Given the description of an element on the screen output the (x, y) to click on. 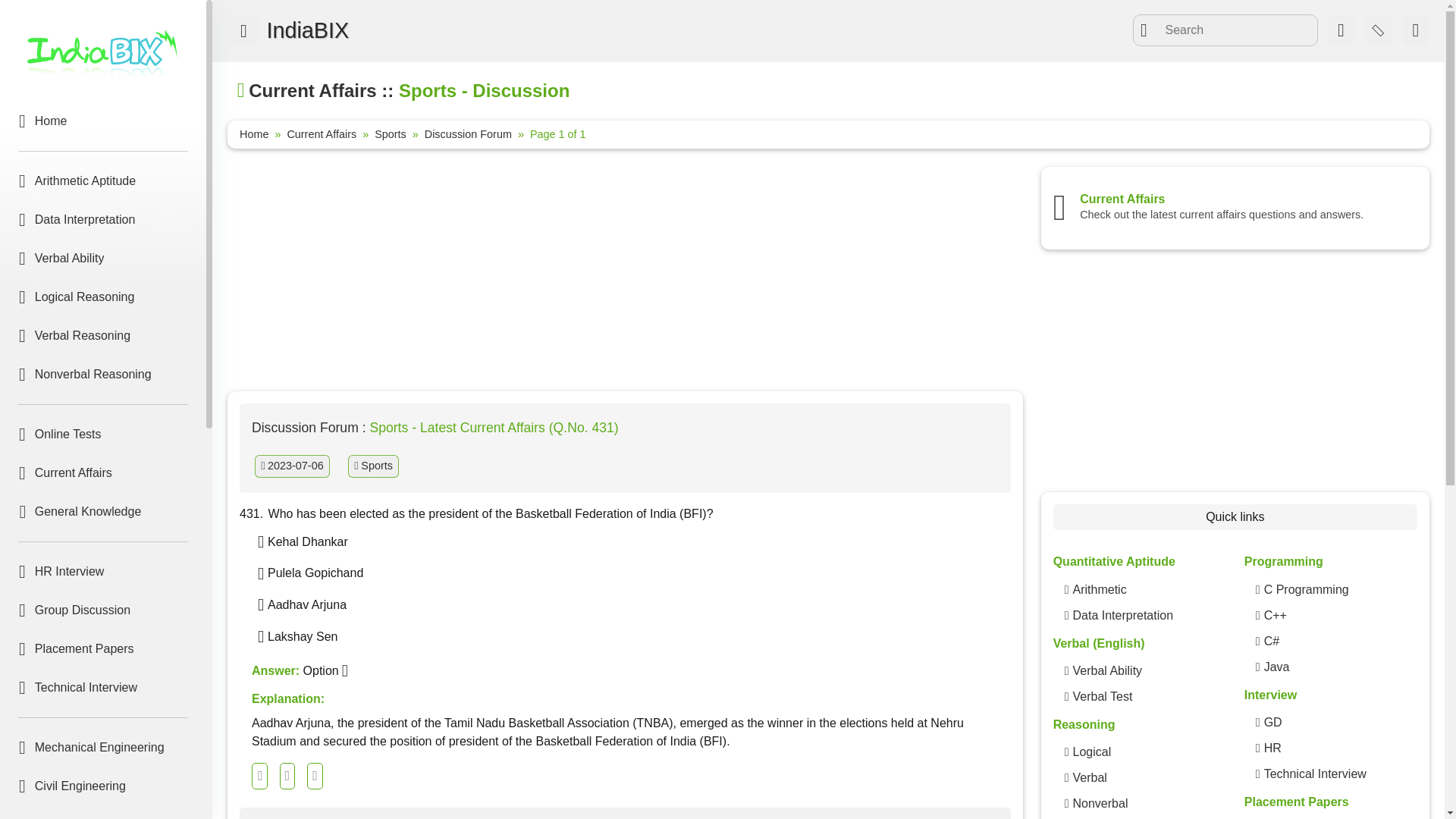
Technical Interview (103, 687)
HR Interview (103, 571)
Group Discussion (103, 610)
Mechanical Engineering (103, 747)
Arithmetic Aptitude (1098, 589)
Arithmetic Aptitude (103, 181)
Placement Papers (103, 648)
HR Interview Questions (1272, 748)
Advertisement (1235, 373)
